Given the description of an element on the screen output the (x, y) to click on. 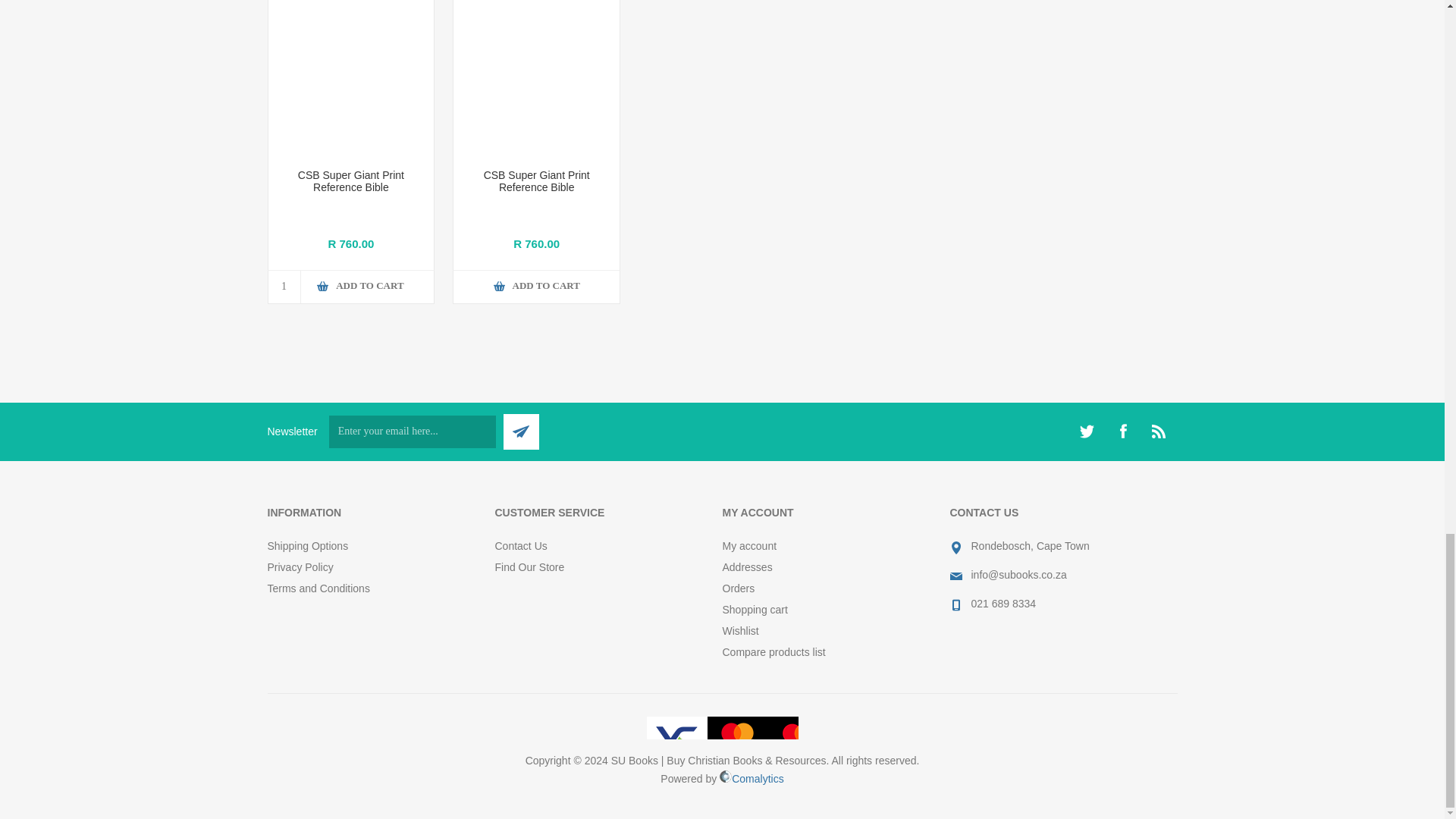
1 (284, 287)
